Given the description of an element on the screen output the (x, y) to click on. 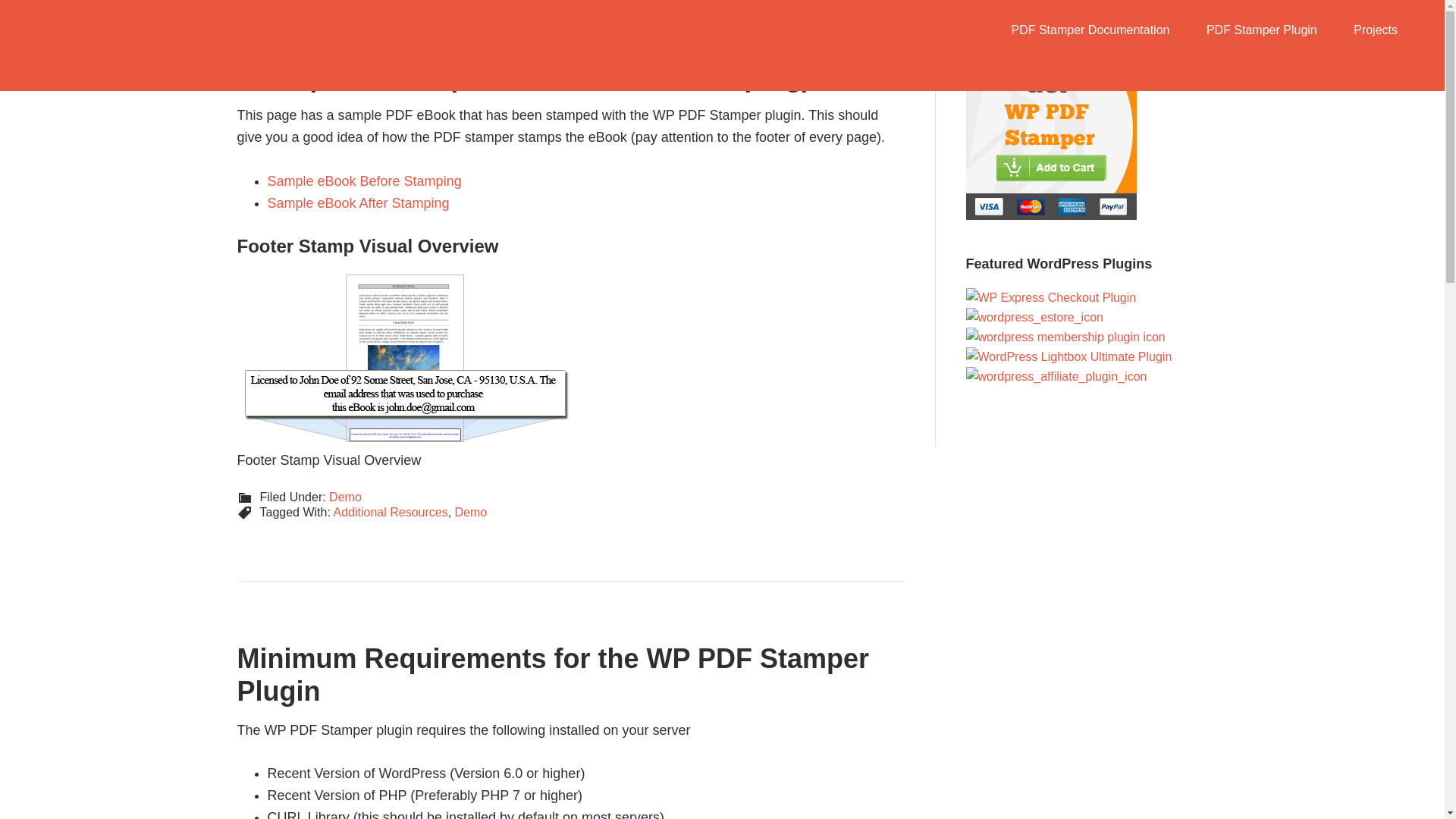
Projects (1374, 30)
WP Express Checkout Plugin (1051, 297)
PDF Stamper Documentation (1090, 30)
Demo (345, 496)
WordPress Lightbox Ultimate Plugin (1069, 356)
Sample eBook Before Stamping (363, 181)
WP PDF STAMPER (166, 30)
Demo (470, 512)
Sample eBook After Stamping (357, 202)
Minimum Requirements for the WP PDF Stamper Plugin (551, 674)
